Given the description of an element on the screen output the (x, y) to click on. 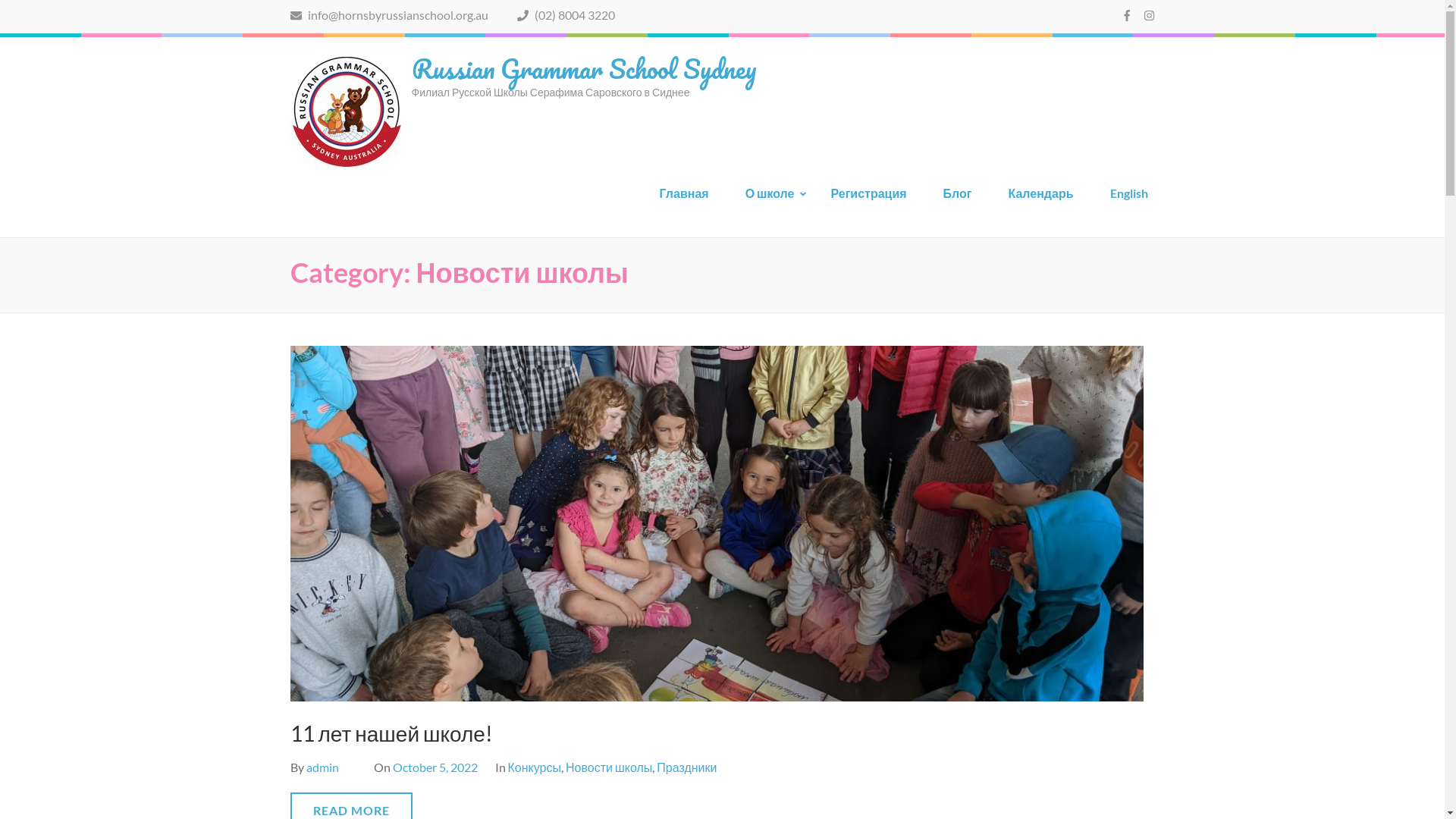
English Element type: text (1129, 199)
info@hornsbyrussianschool.org.au Element type: text (388, 14)
Russian Grammar School Sydney Element type: text (583, 68)
admin Element type: text (322, 766)
Instagram Element type: hover (1149, 14)
(02) 8004 3220 Element type: text (566, 14)
Facebook Element type: hover (1126, 14)
October 5, 2022 Element type: text (434, 766)
